Given the description of an element on the screen output the (x, y) to click on. 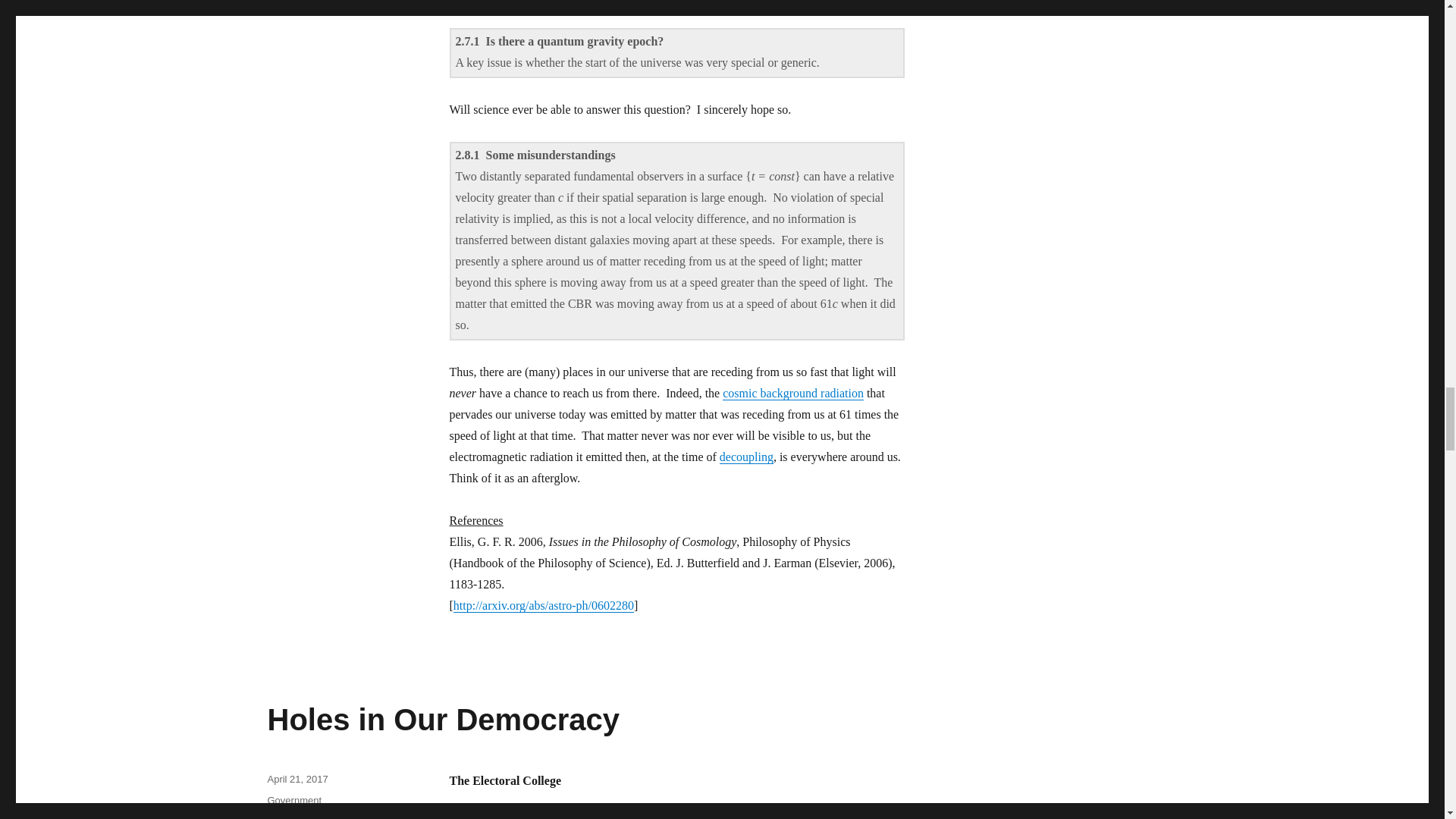
decoupling (746, 456)
cosmic background radiation (792, 392)
